Given the description of an element on the screen output the (x, y) to click on. 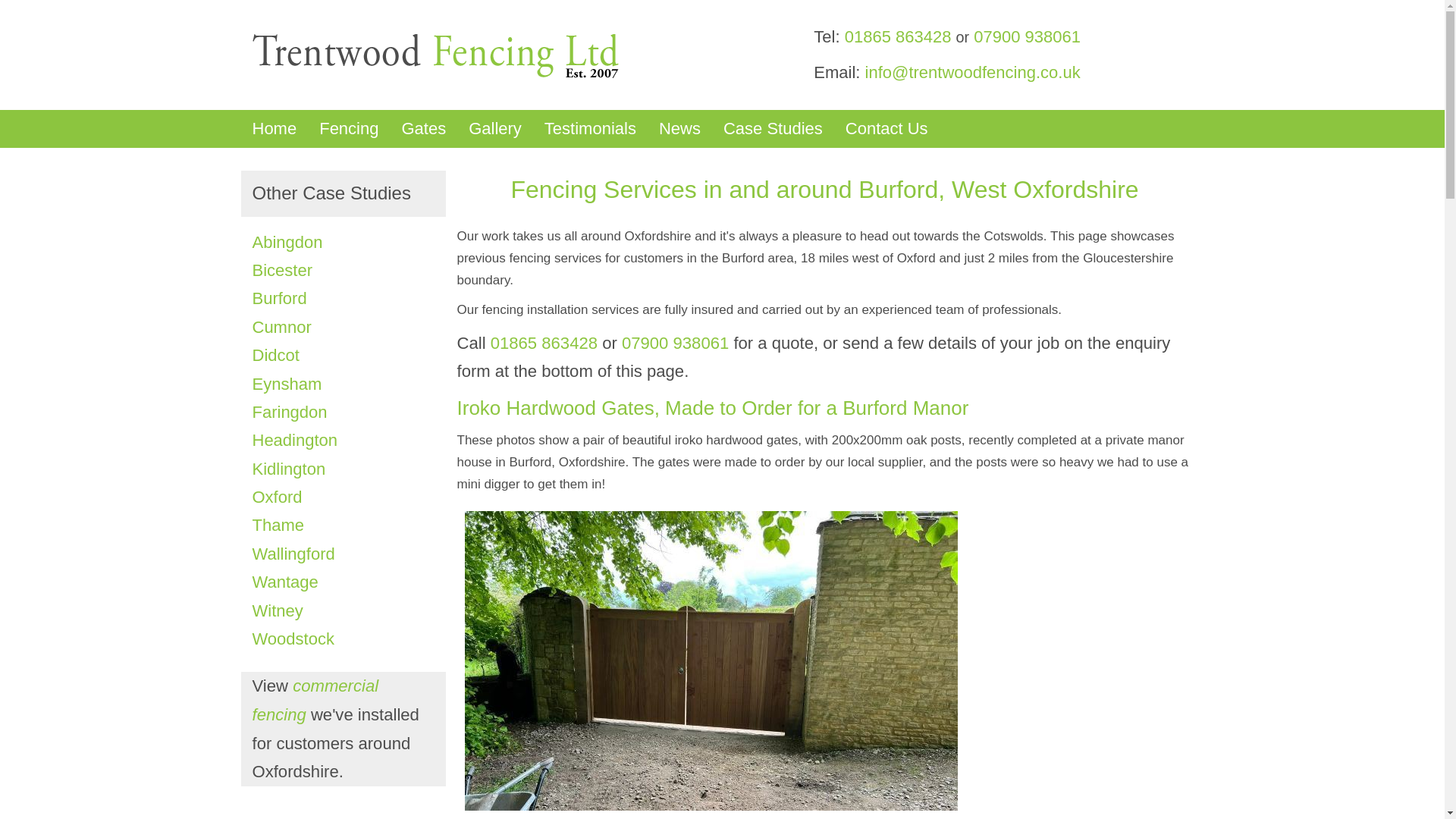
Bicester (281, 270)
Abingdon (286, 241)
Headington (294, 439)
Wallingford (292, 553)
Gallery (494, 128)
Cumnor (281, 326)
Thame (276, 524)
Fencing (348, 128)
07900 938061 (675, 342)
Contact Us (886, 128)
Faringdon (288, 411)
Gates (423, 128)
Eynsham (286, 383)
Kidlington (287, 468)
Woodstock (292, 638)
